Given the description of an element on the screen output the (x, y) to click on. 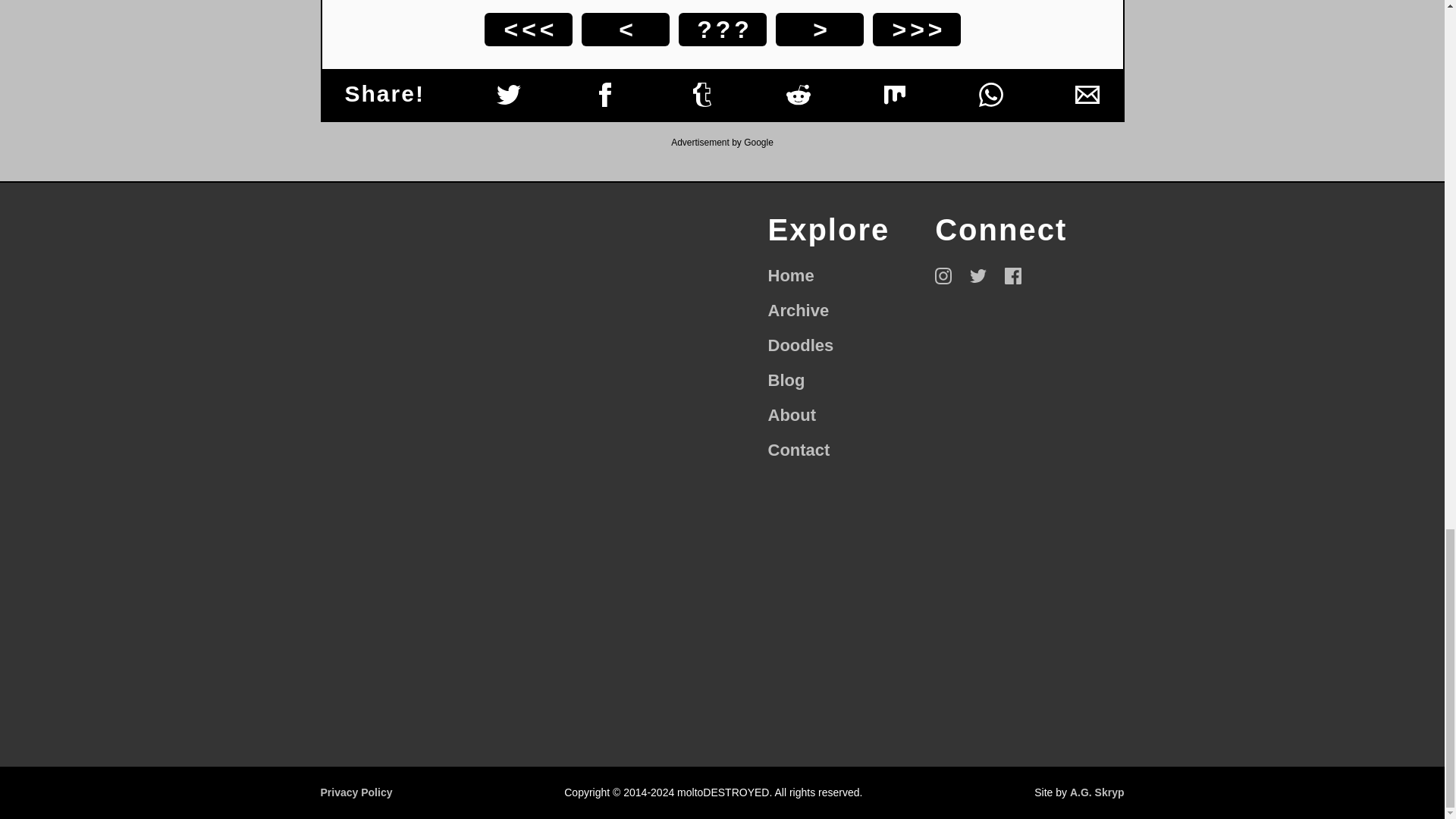
Blog (721, 29)
Share to mix.com (786, 380)
Contact (894, 94)
Share on Facebook (798, 449)
Share on WhatsApp (604, 94)
Follow on Instagram (990, 94)
Share via E-Mail (943, 275)
Share on Tumblr (1087, 94)
Share on Tumblr (702, 94)
Share via E-Mail (702, 94)
Share to mix.com (1087, 94)
on Twitter (894, 94)
Share on Reddit (978, 275)
Share on Twitter (798, 94)
